Given the description of an element on the screen output the (x, y) to click on. 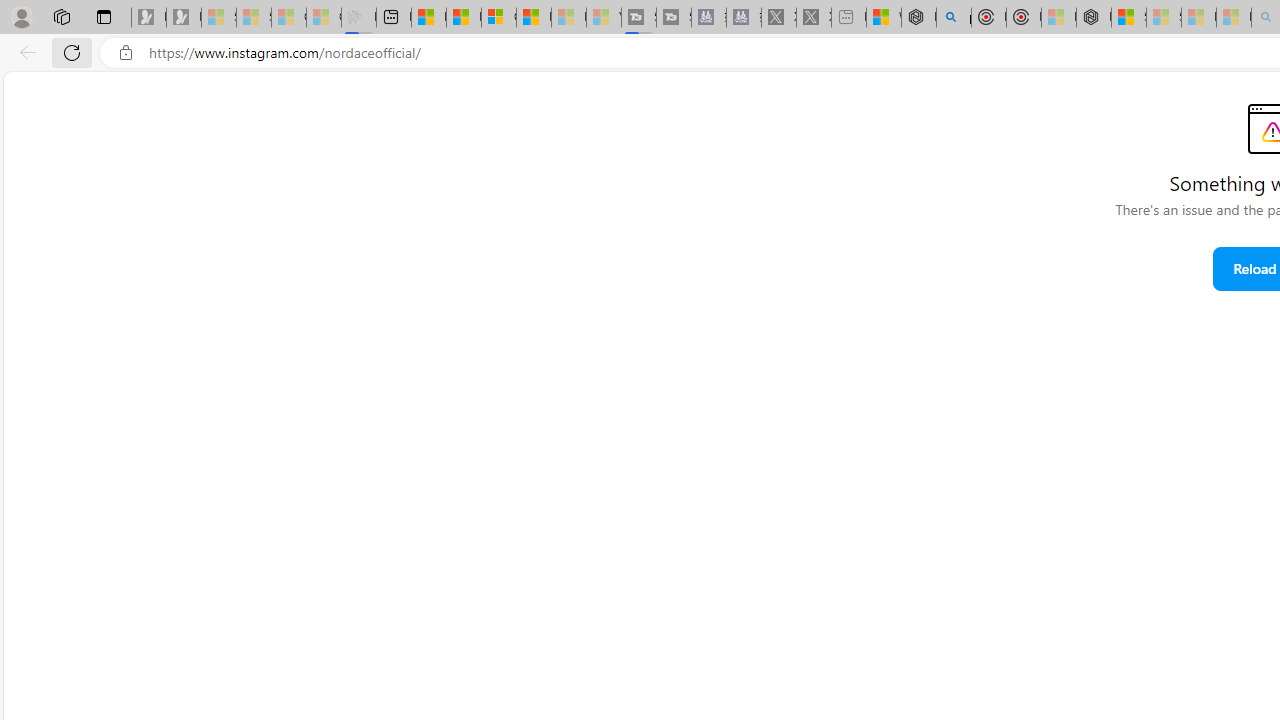
Nordace - Nordace Siena Is Not An Ordinary Backpack (1093, 17)
poe - Search (954, 17)
New tab - Sleeping (849, 17)
Newsletter Sign Up - Sleeping (183, 17)
